Given the description of an element on the screen output the (x, y) to click on. 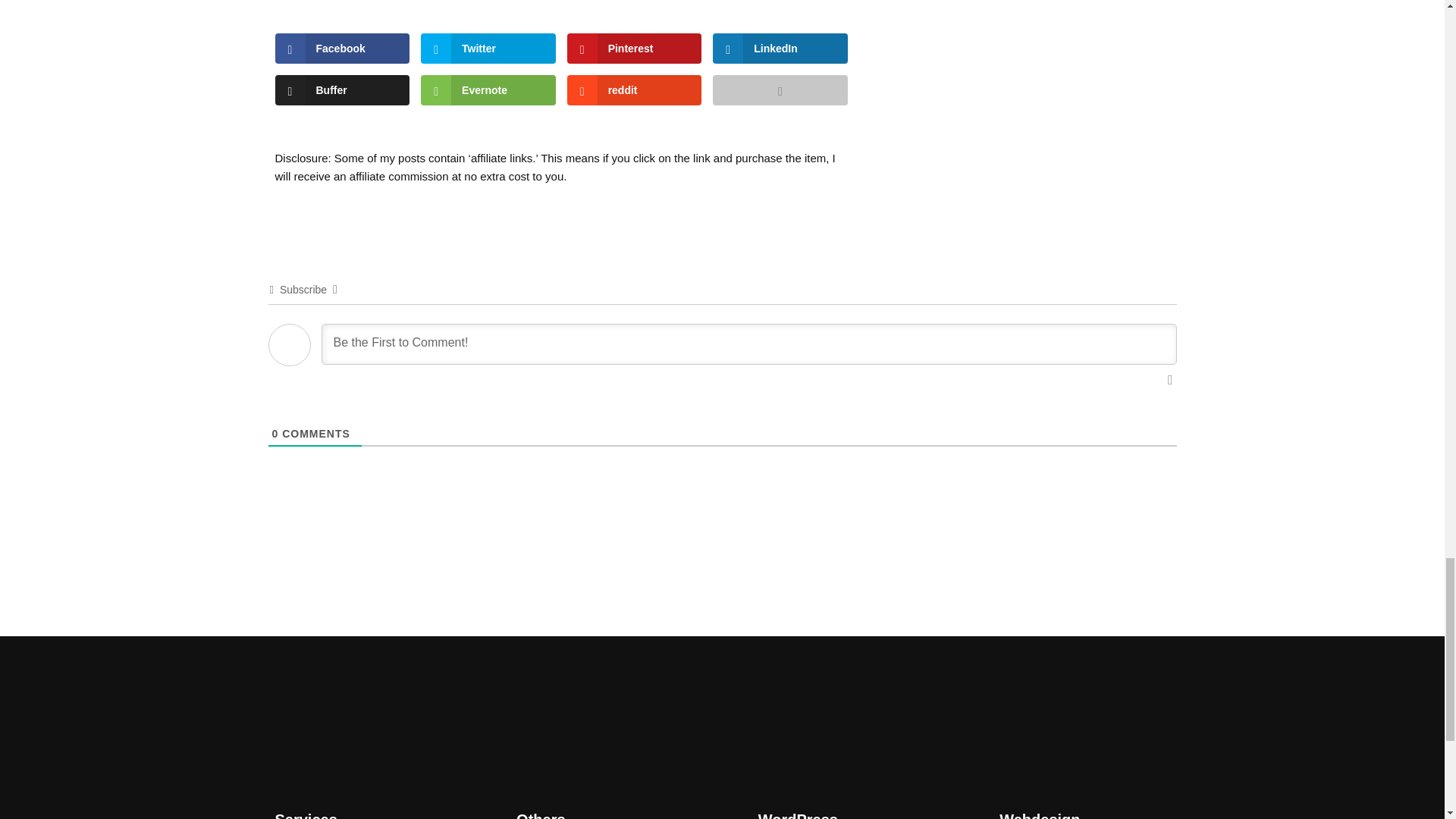
Facebook (342, 48)
LinkedIn (780, 48)
Pinterest (634, 48)
reddit (634, 90)
Buffer (342, 90)
Twitter (487, 48)
Evernote (487, 90)
